Given the description of an element on the screen output the (x, y) to click on. 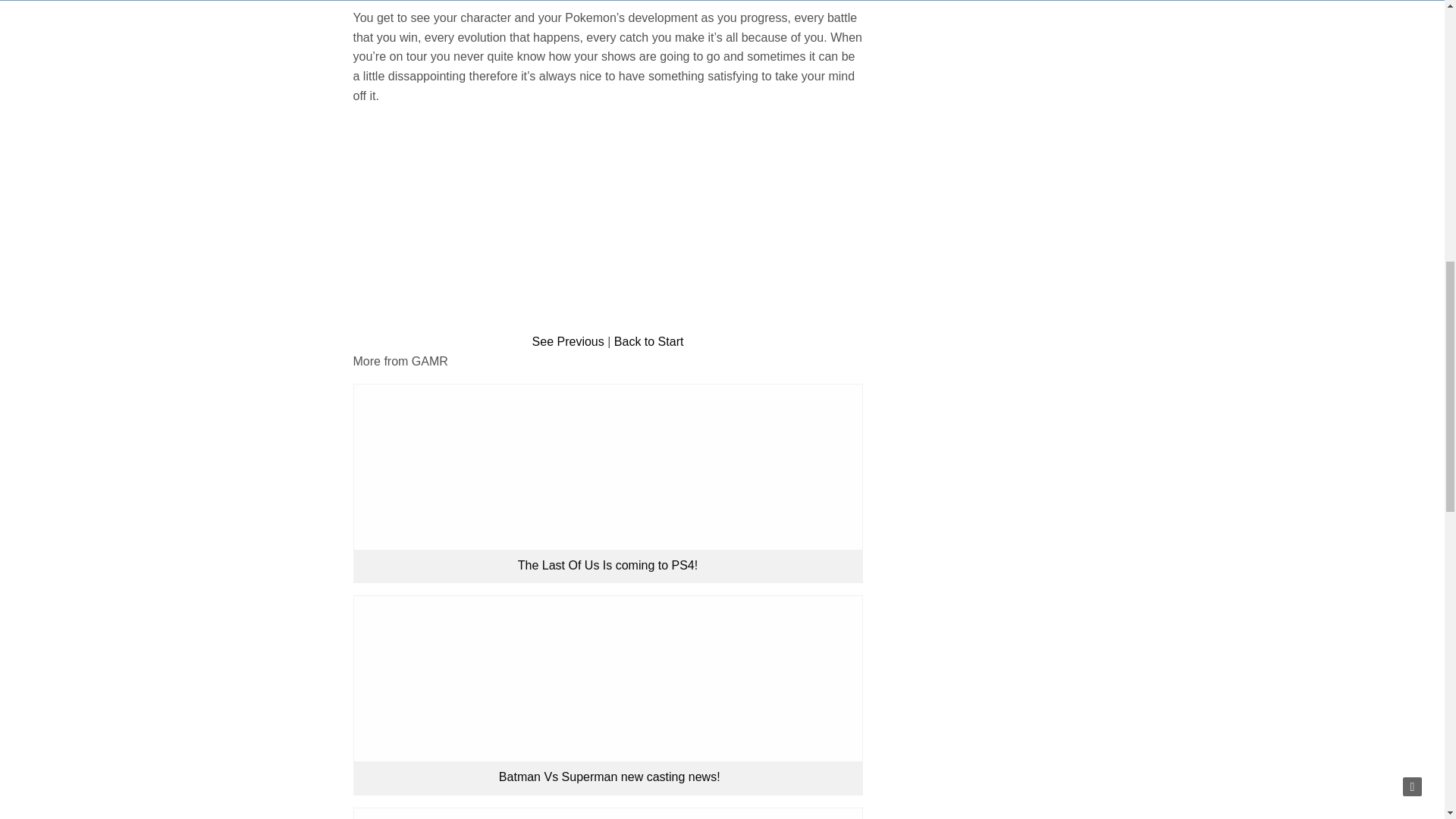
 Batman Vs Superman new casting news! (607, 776)
See Previous (568, 341)
Back to Start (649, 341)
The Last Of Us Is coming to PS4! (607, 564)
